Given the description of an element on the screen output the (x, y) to click on. 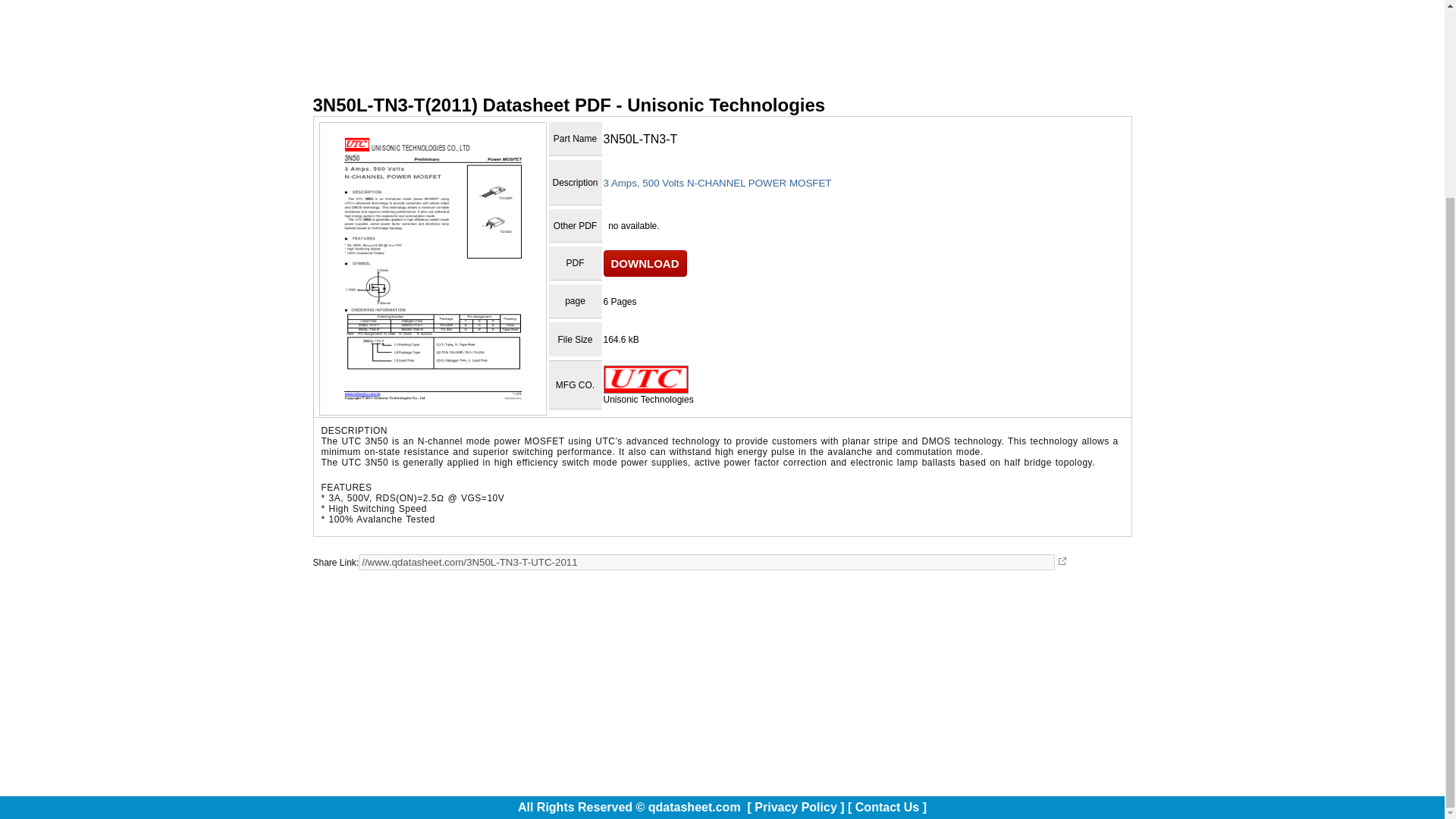
Privacy Policy (795, 807)
AD Supplyframe (721, 47)
DOWNLOAD (645, 263)
Contact Us (887, 807)
3 Amps, 500 Volts N-CHANNEL POWER MOSFET (717, 183)
